Given the description of an element on the screen output the (x, y) to click on. 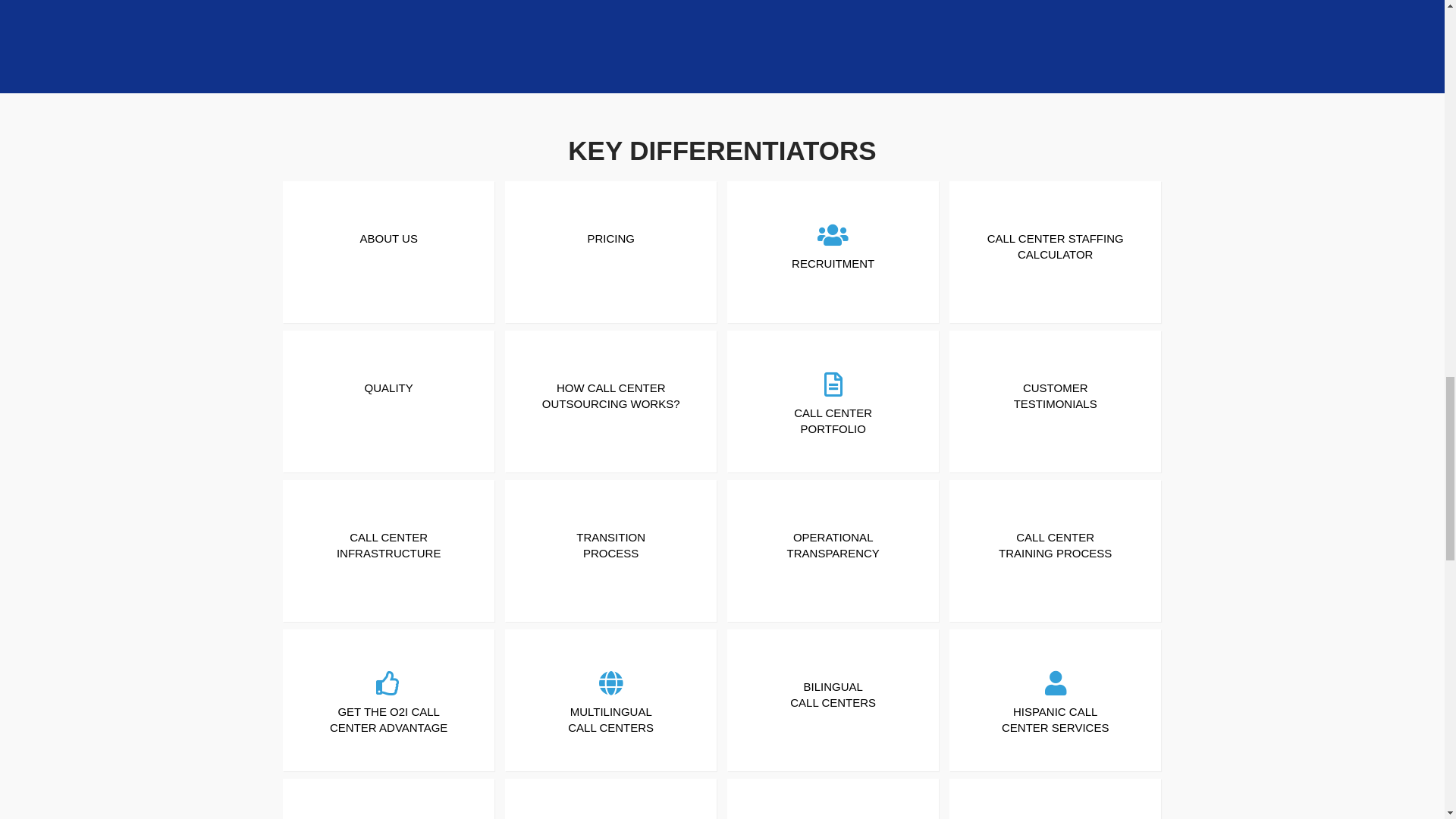
View all customers (1144, 22)
